Given the description of an element on the screen output the (x, y) to click on. 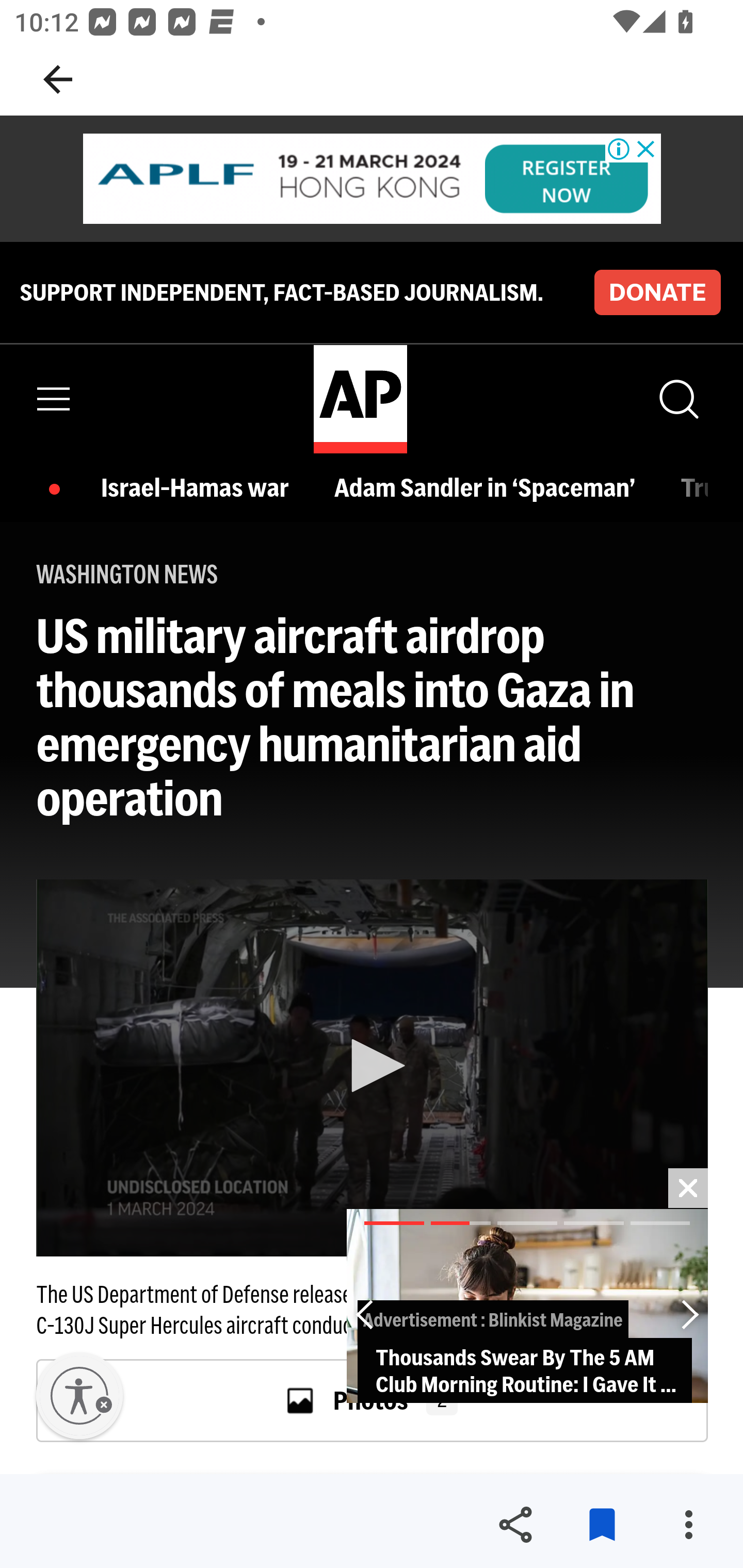
Navigate up (57, 79)
DONATE (657, 291)
home page AP Logo (359, 398)
Menu (54, 398)
Show Search (677, 398)
Israel-Hamas war (200, 487)
Adam Sandler in ‘Spaceman’ (489, 487)
Play (372, 1066)
Enable accessibility (79, 1395)
Share (514, 1524)
Remove from saved stories (601, 1524)
More options (688, 1524)
